Given the description of an element on the screen output the (x, y) to click on. 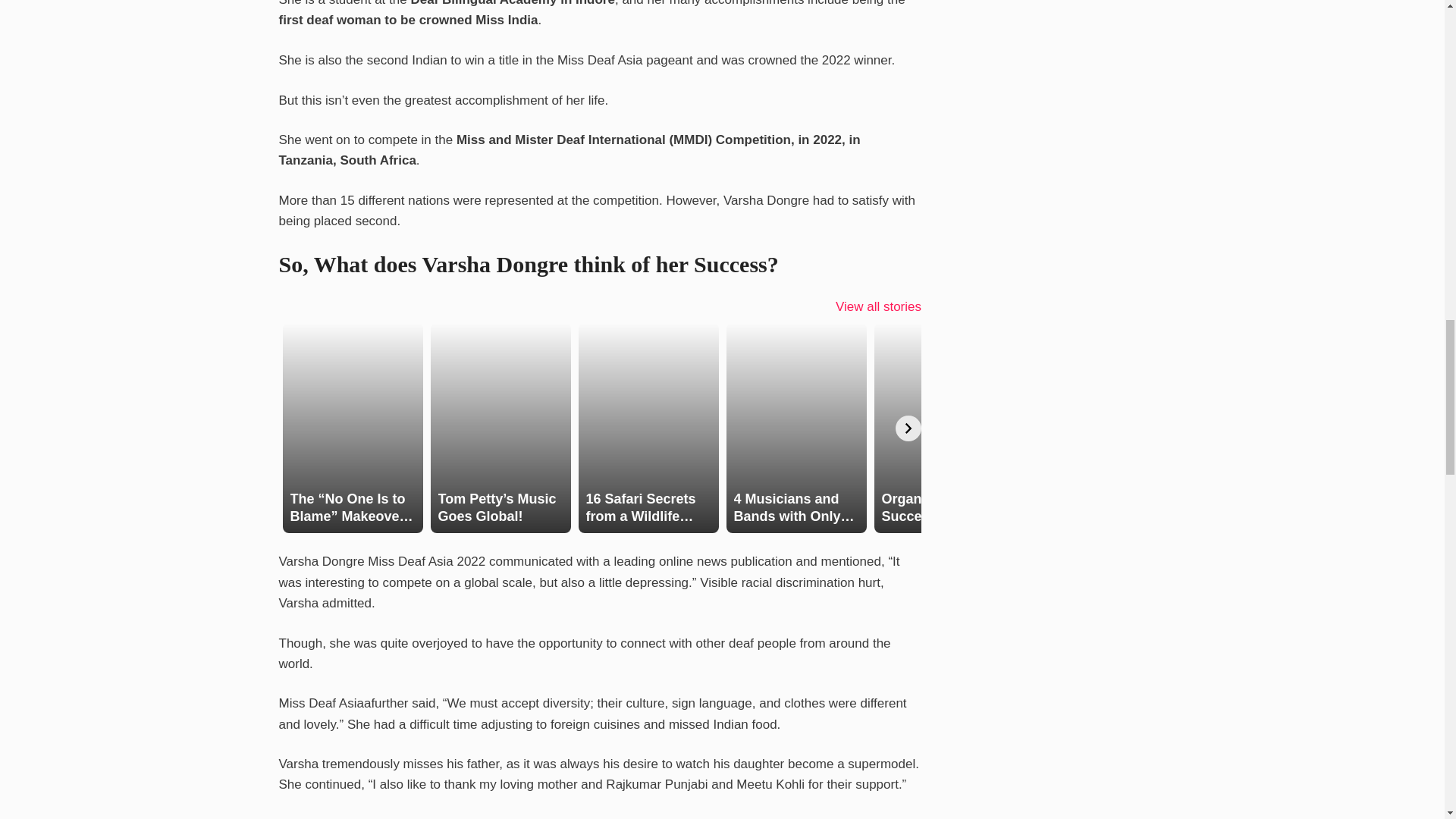
View all stories (878, 306)
